Given the description of an element on the screen output the (x, y) to click on. 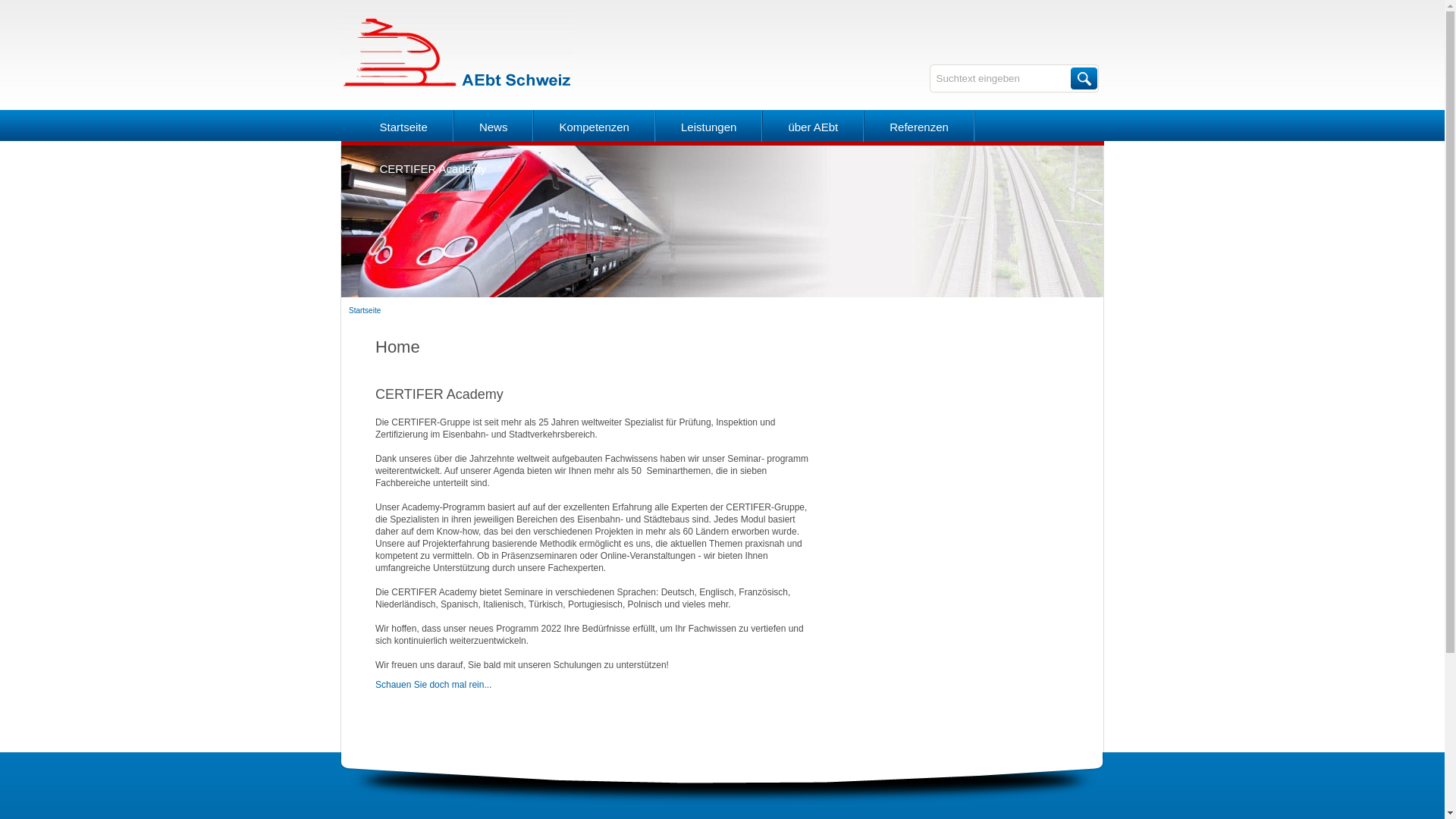
Startseite Element type: text (364, 310)
News Element type: text (493, 126)
Leistungen Element type: text (708, 126)
Zur Startseite Element type: hover (457, 86)
Schauen Sie doch mal rein... Element type: text (433, 684)
CERTIFER Academy Element type: text (432, 168)
Referenzen Element type: text (918, 126)
Startseite Element type: text (402, 126)
Kompetenzen Element type: text (593, 126)
